Given the description of an element on the screen output the (x, y) to click on. 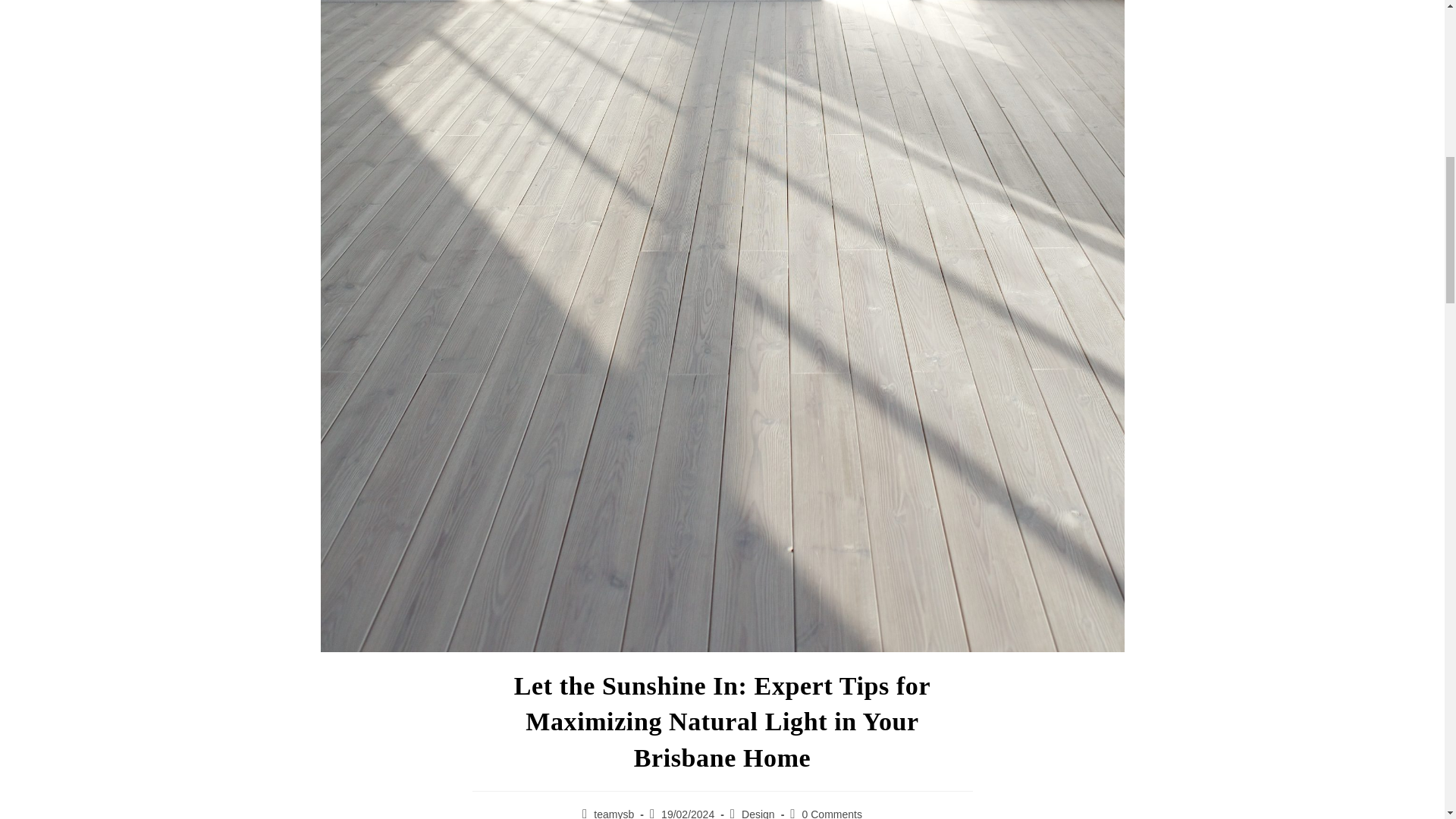
Design (757, 813)
teamysb (613, 813)
Posts by teamysb (613, 813)
